Given the description of an element on the screen output the (x, y) to click on. 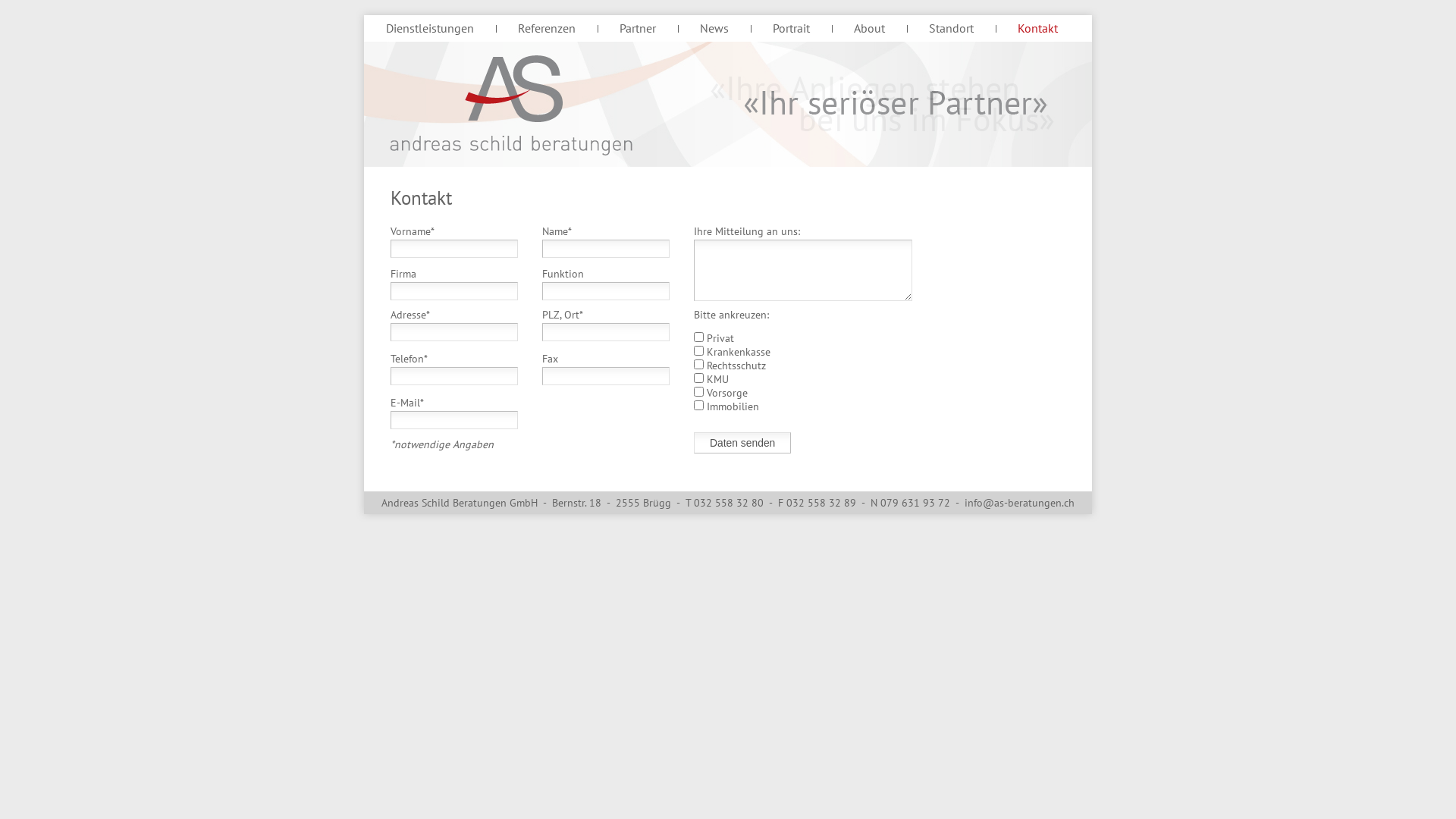
News Element type: text (713, 27)
Standort Element type: text (950, 27)
Portrait Element type: text (790, 27)
Partner Element type: text (637, 27)
Kontakt Element type: text (1037, 27)
Referenzen Element type: text (546, 27)
About Element type: text (868, 27)
Dienstleistungen Element type: text (429, 27)
Daten senden Element type: text (741, 442)
info@as-beratungen.ch Element type: text (1019, 502)
